Given the description of an element on the screen output the (x, y) to click on. 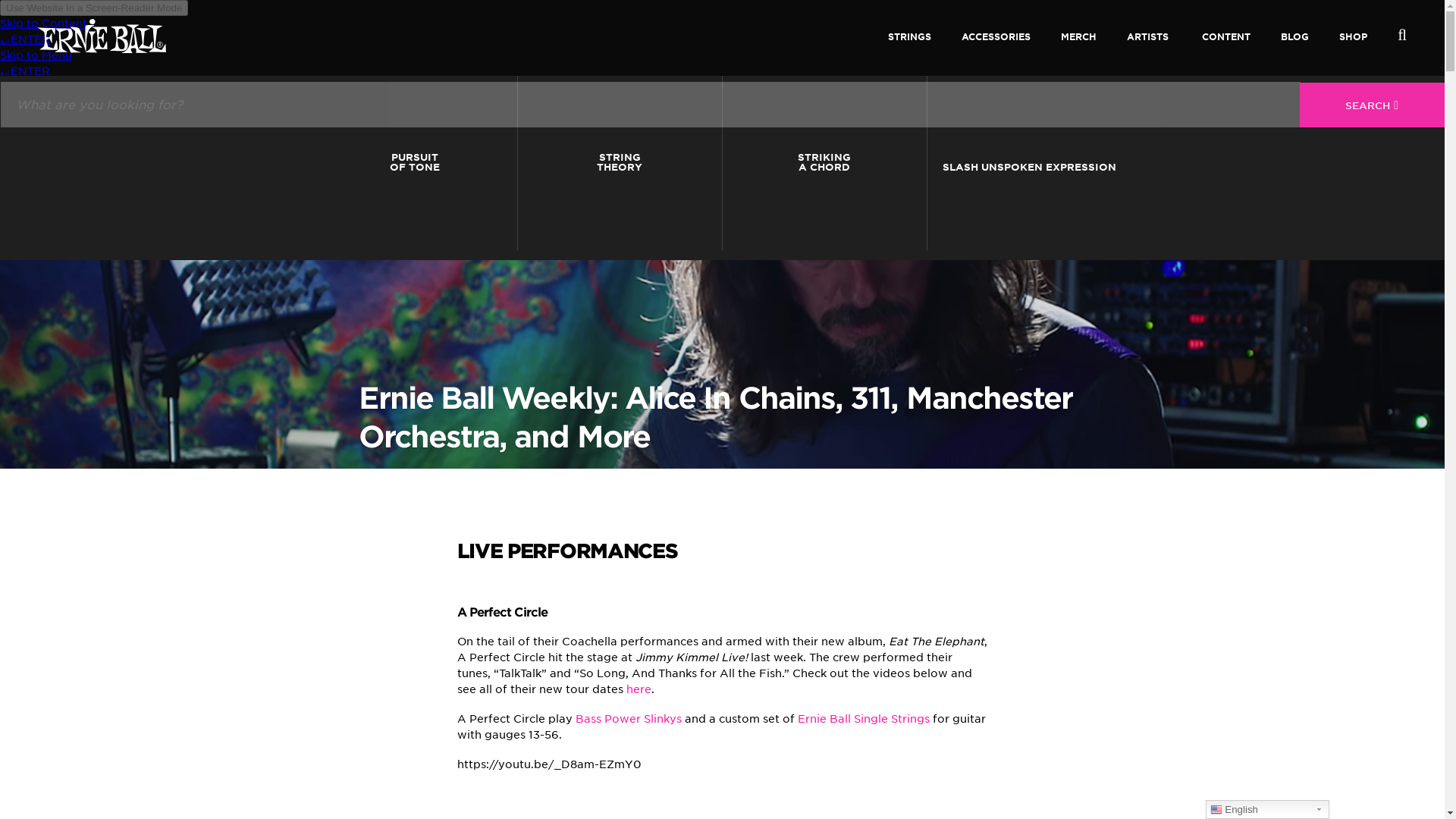
CONTENT (1131, 162)
MERCH (1225, 45)
ACCESSORIES (517, 162)
ARTISTS (1078, 45)
STRINGS (312, 162)
